Given the description of an element on the screen output the (x, y) to click on. 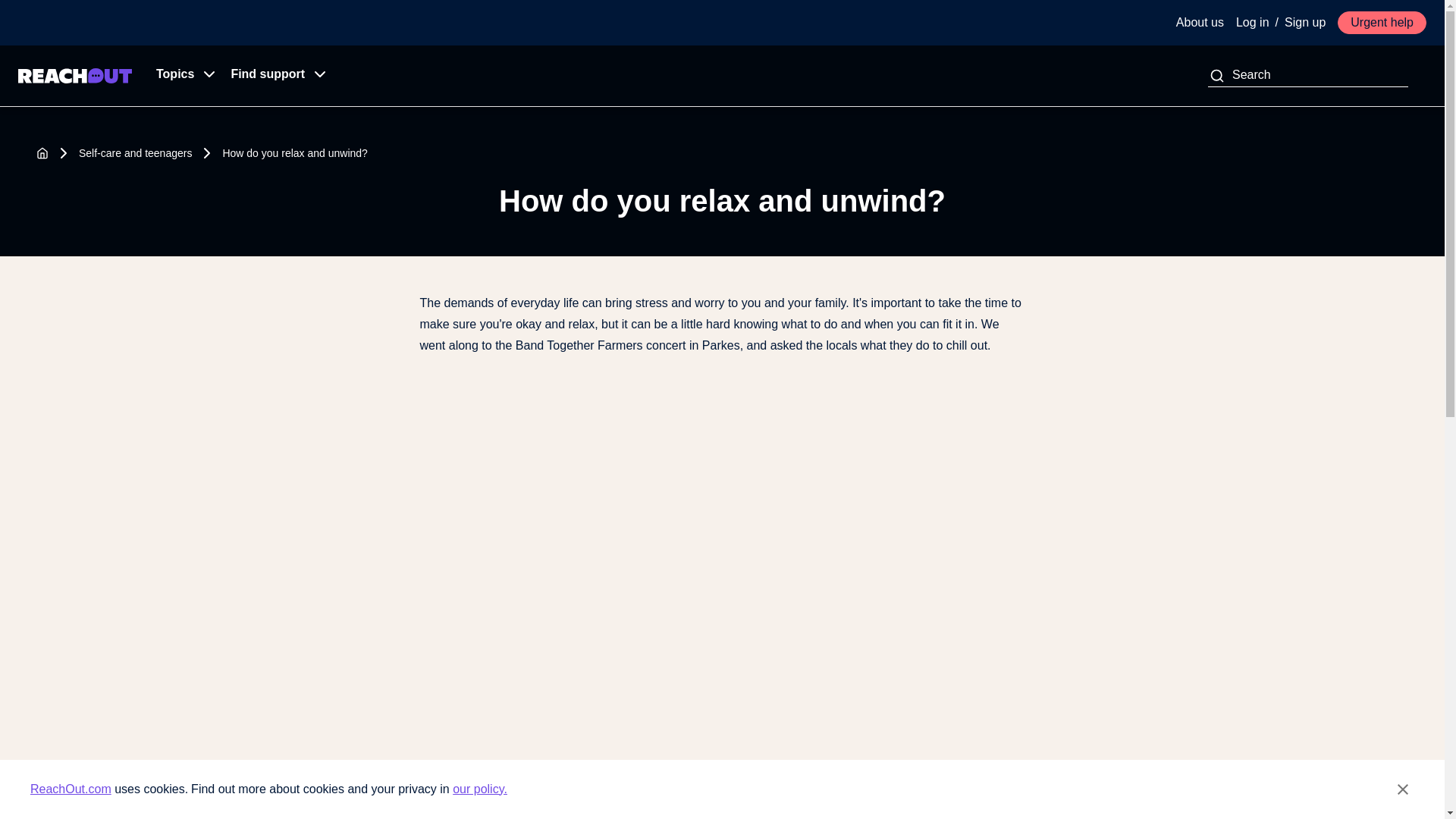
About us (1200, 22)
Log in (1252, 22)
Find support (273, 75)
Self-care and teenagers (135, 152)
Urgent help (1382, 22)
Sign up (1304, 22)
Topics (181, 75)
